Given the description of an element on the screen output the (x, y) to click on. 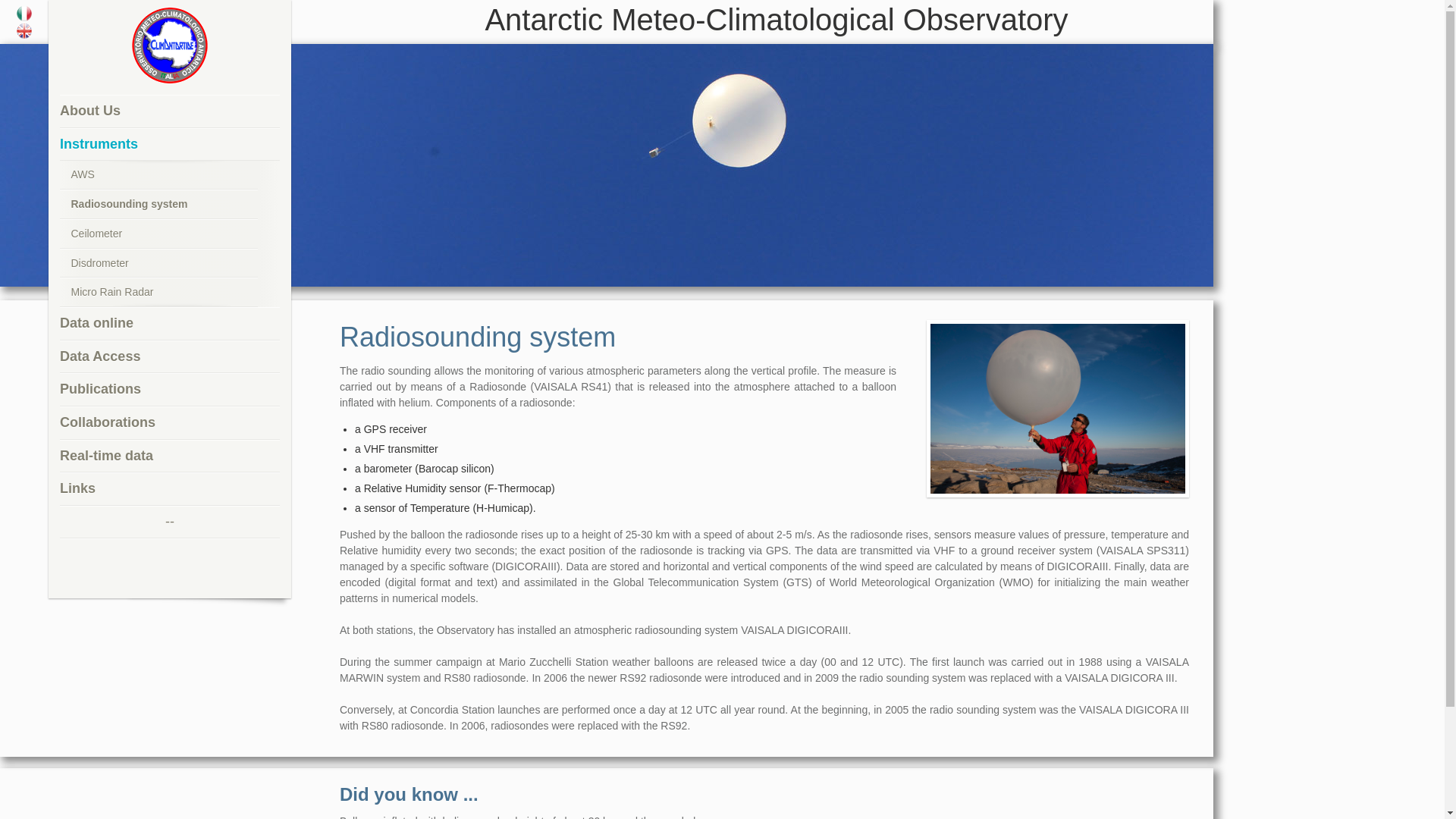
About Us (169, 111)
-- (169, 522)
Ceilometer (158, 233)
About Us (169, 111)
Publications (169, 389)
Homepage (169, 45)
Instruments (169, 144)
AWS (158, 174)
Disdrometer (158, 263)
Data Access (169, 356)
Instruments (169, 144)
Data online (169, 323)
AWS (158, 174)
Disdrometer (158, 263)
